Given the description of an element on the screen output the (x, y) to click on. 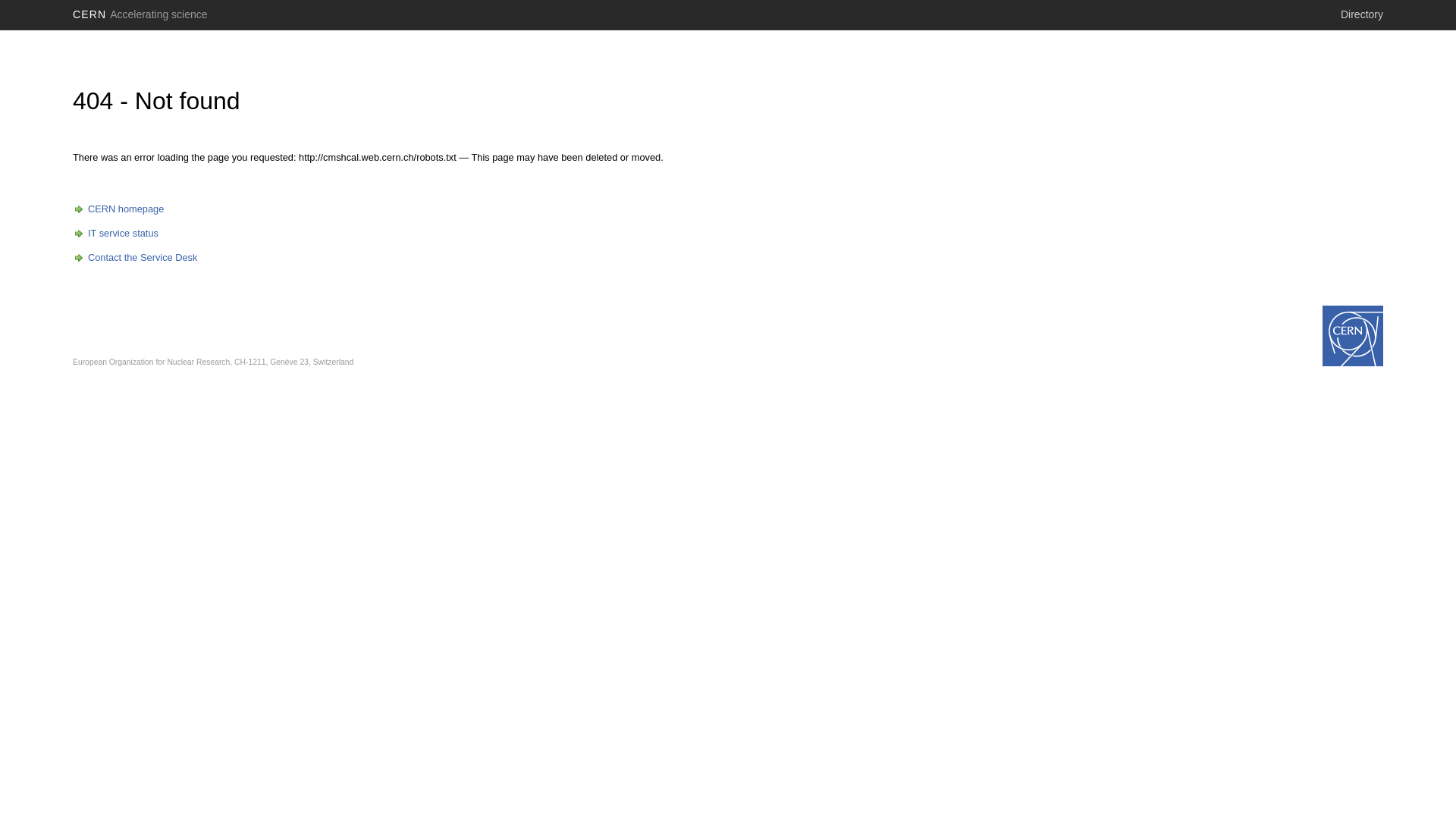
CERN homepage Element type: text (117, 208)
Directory Element type: text (1361, 14)
Contact the Service Desk Element type: text (134, 257)
IT service status Element type: text (115, 232)
www.cern.ch Element type: hover (1352, 335)
CERN Accelerating science Element type: text (139, 14)
